Given the description of an element on the screen output the (x, y) to click on. 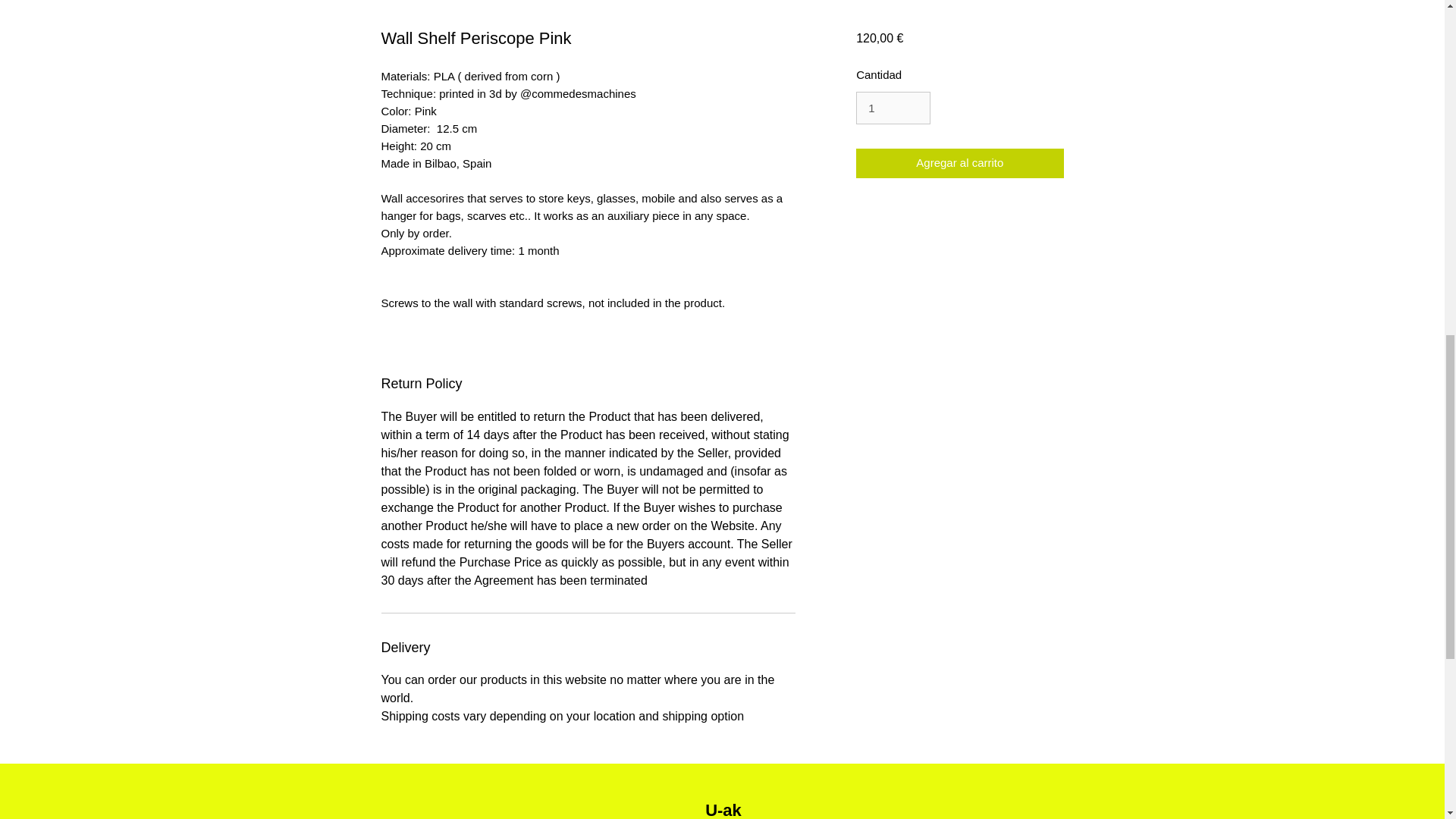
U-ak (722, 809)
1 (893, 108)
Agregar al carrito (959, 163)
